Given the description of an element on the screen output the (x, y) to click on. 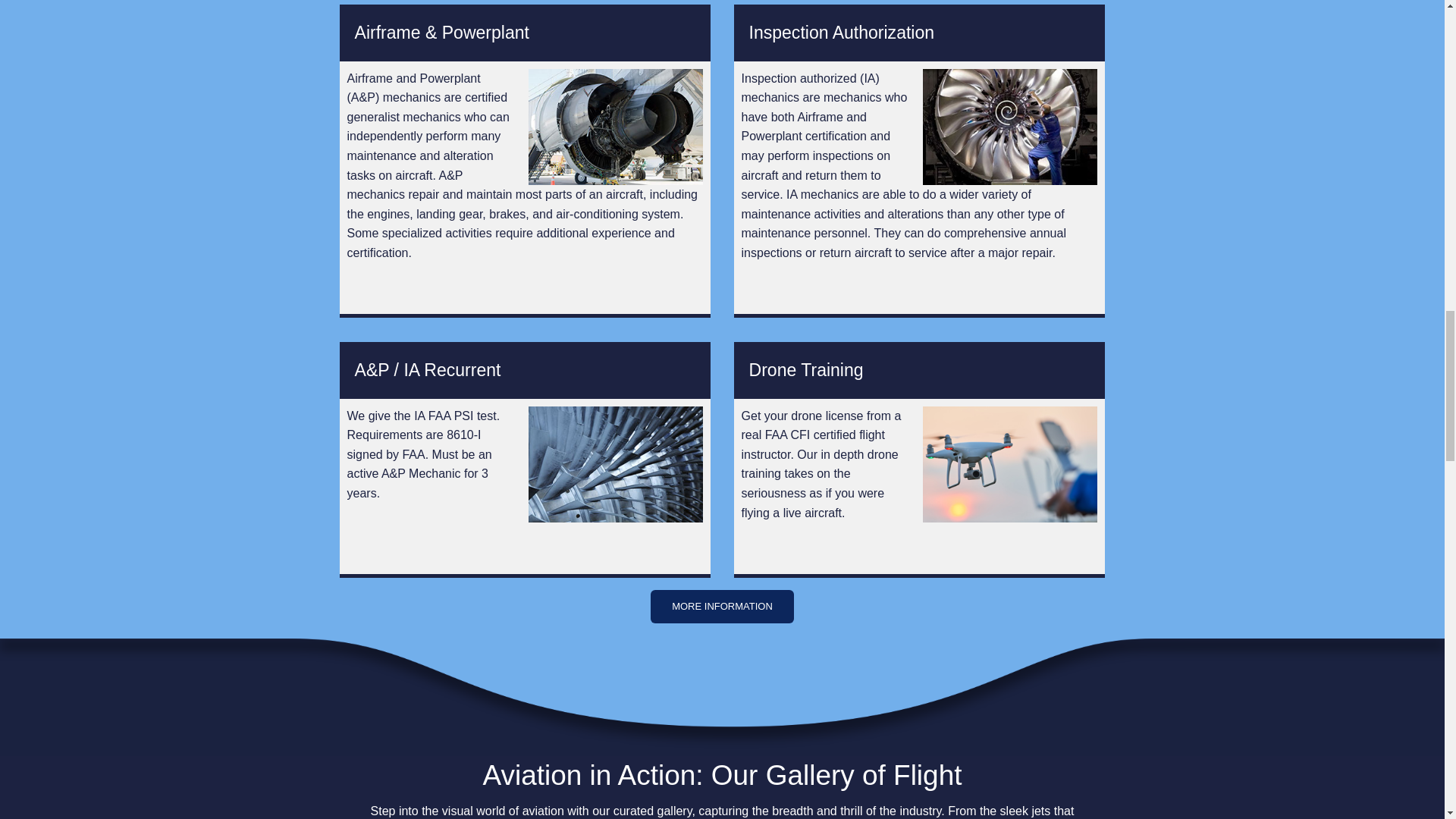
Inspection Authorization (841, 32)
Inspection Authorization (841, 32)
Drone License (806, 370)
MORE INFORMATION (721, 606)
Drone Training (806, 370)
